Given the description of an element on the screen output the (x, y) to click on. 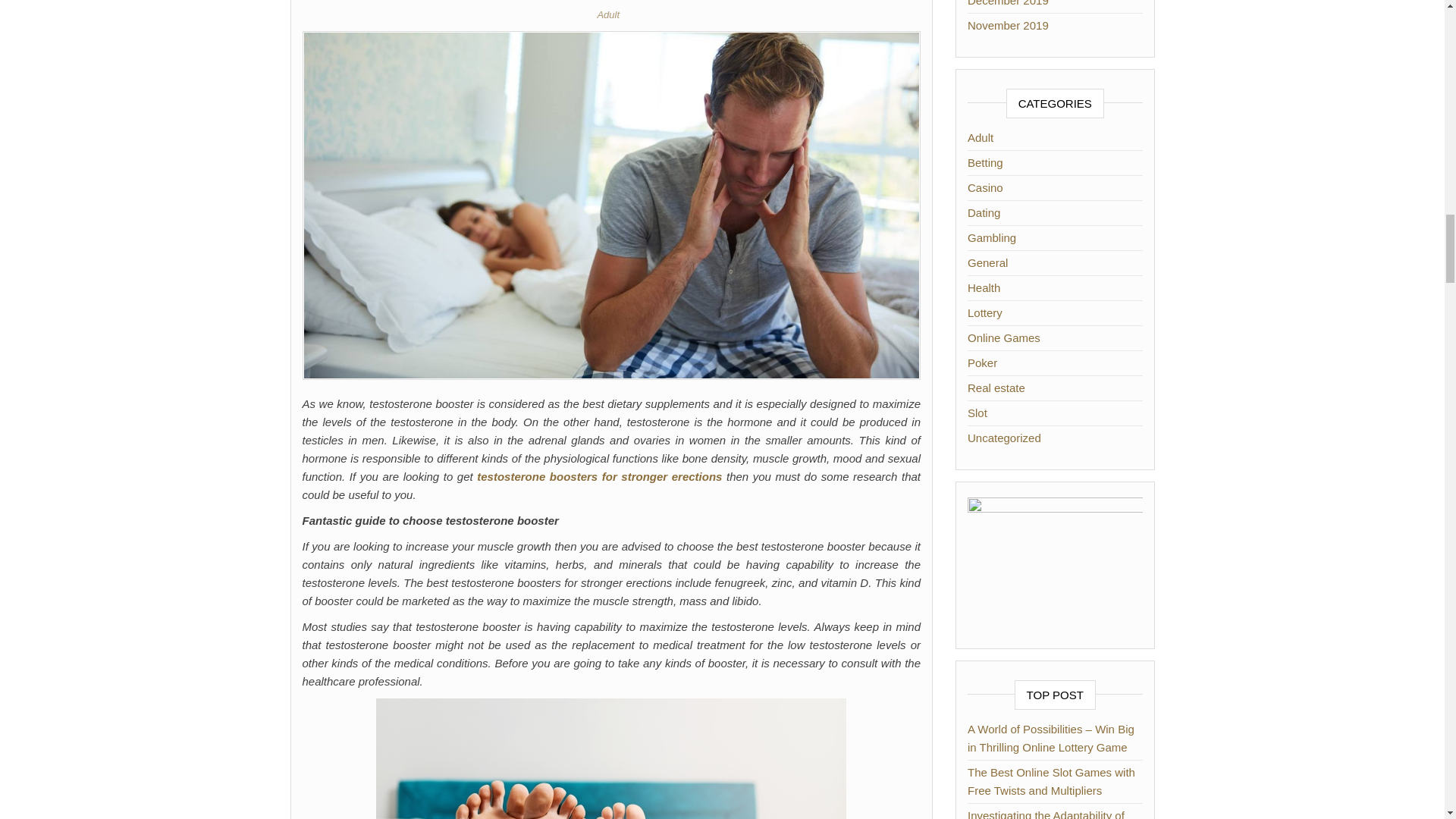
Effective tips to choose the best testosterone booster (610, 204)
Adult (611, 14)
testosterone boosters for stronger erections (599, 476)
